Given the description of an element on the screen output the (x, y) to click on. 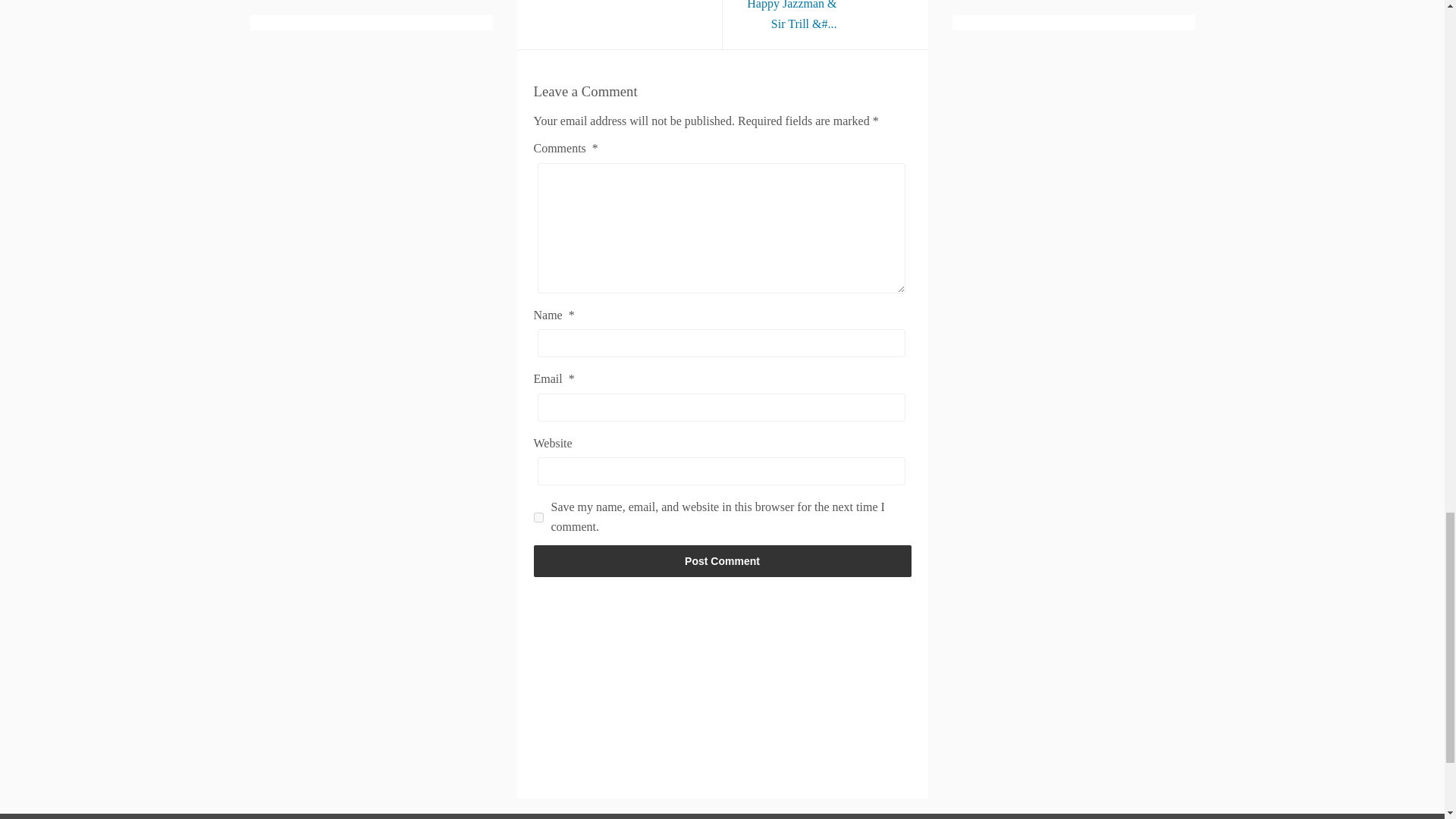
Post Comment (722, 561)
Post Comment (722, 561)
yes (538, 517)
